Given the description of an element on the screen output the (x, y) to click on. 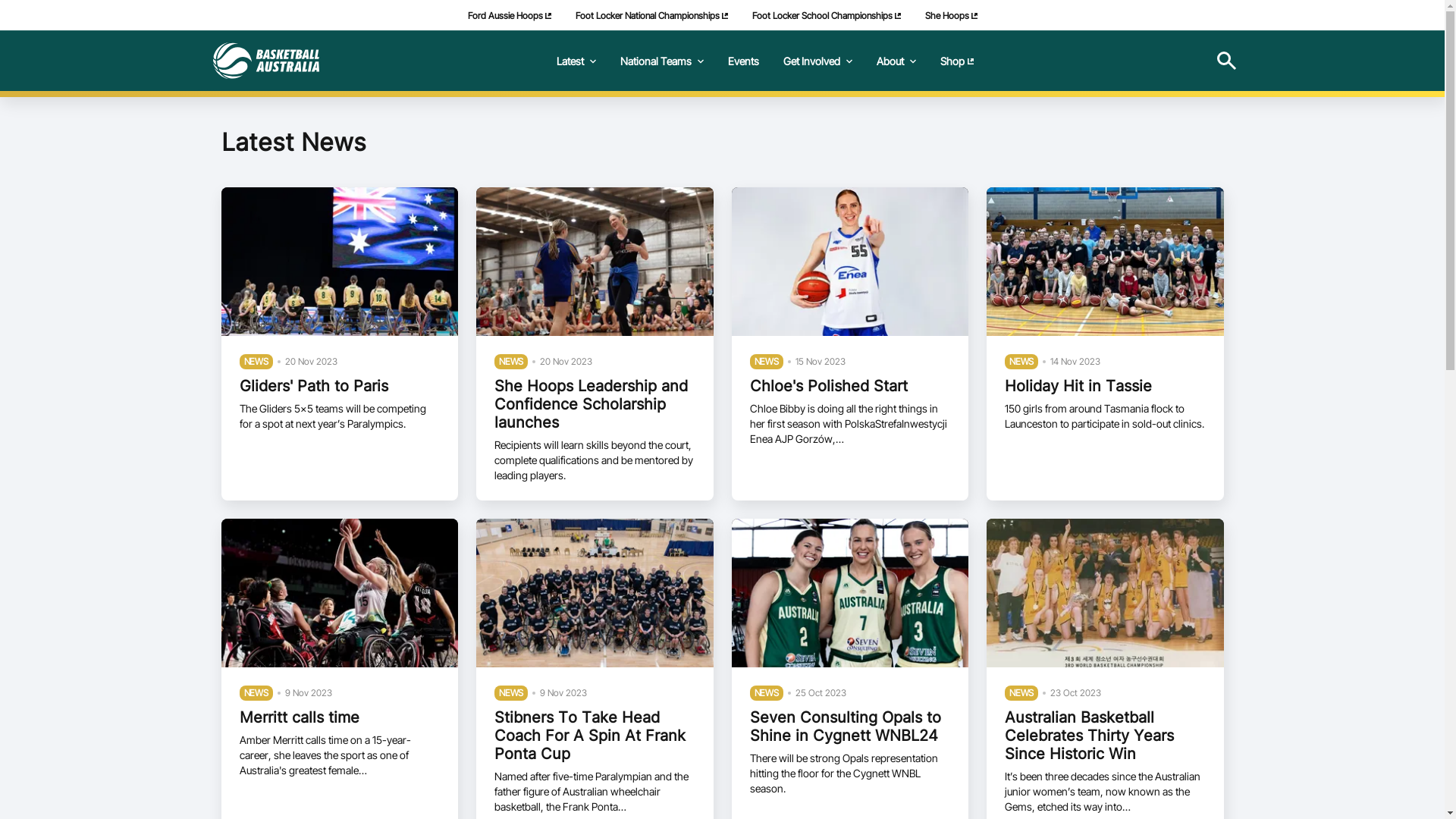
Ford Aussie Hoops Element type: text (508, 15)
Events Element type: text (743, 60)
Return to Homepage Element type: hover (265, 60)
Shop Element type: text (956, 60)
Get Involved Element type: text (816, 60)
Foot Locker National Championships Element type: text (650, 15)
Latest Element type: text (576, 60)
Foot Locker School Championships Element type: text (826, 15)
She Hoops Element type: text (951, 15)
About Element type: text (896, 60)
National Teams Element type: text (661, 60)
